Given the description of an element on the screen output the (x, y) to click on. 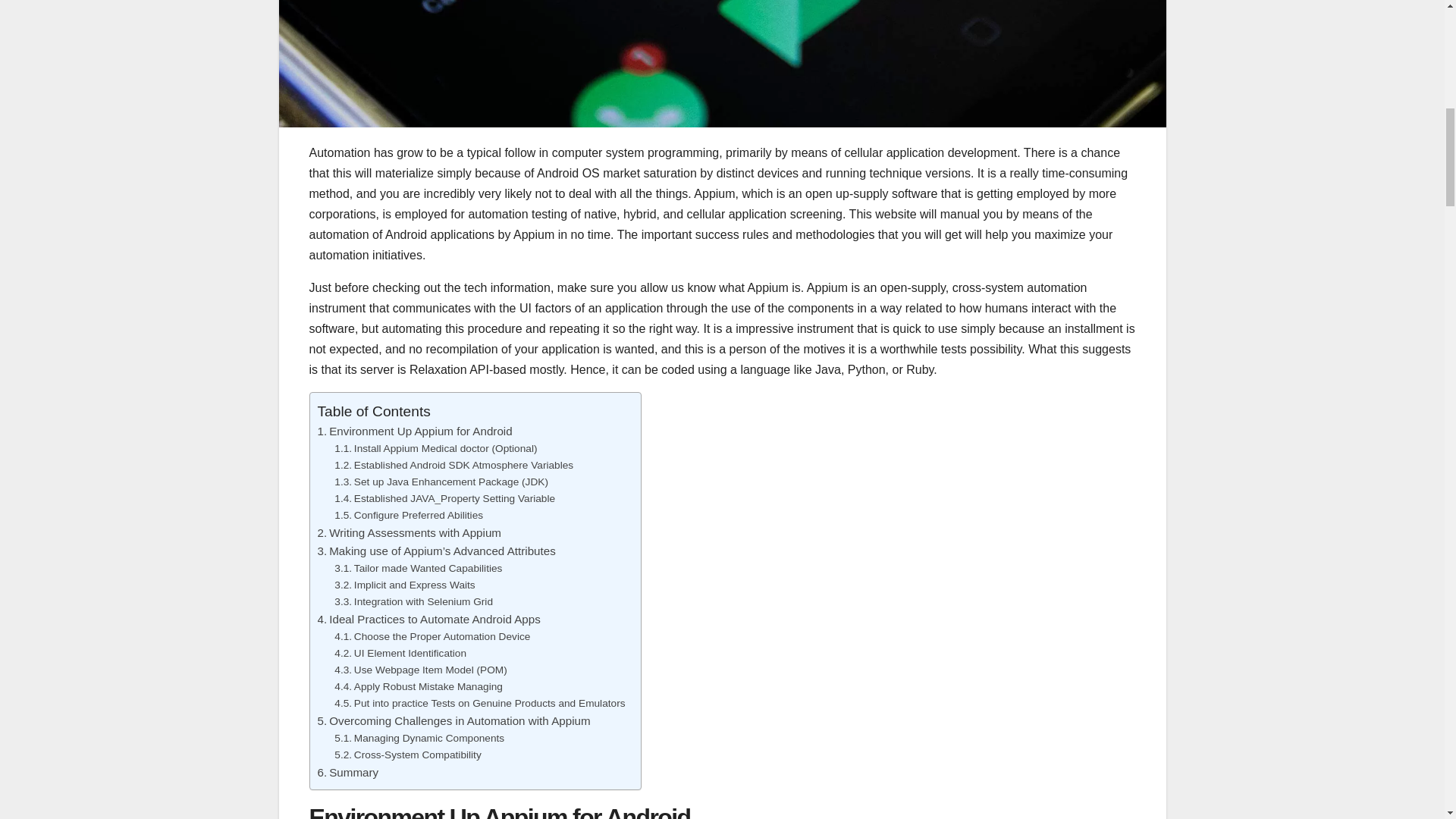
Environment Up Appium for Android (414, 431)
Established Android SDK Atmosphere Variables (453, 465)
Apply Robust Mistake Managing (418, 686)
Configure Preferred Abilities (408, 515)
Put into practice Tests on Genuine Products and Emulators (479, 703)
Tailor made Wanted Capabilities (418, 568)
Ideal Practices to Automate Android Apps (428, 619)
Established Android SDK Atmosphere Variables (453, 465)
UI Element Identification (399, 653)
Integration with Selenium Grid (413, 601)
